Given the description of an element on the screen output the (x, y) to click on. 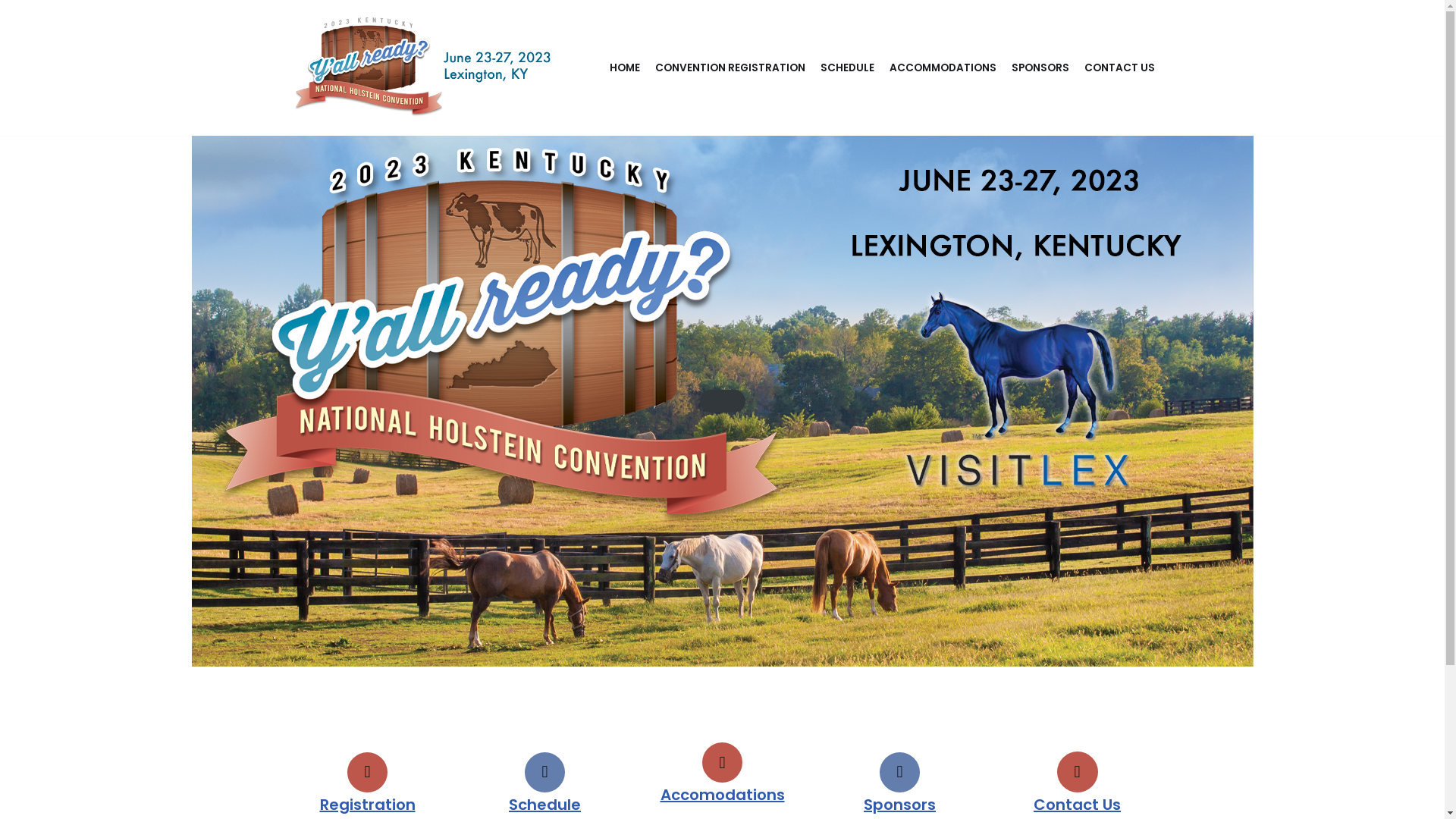
SCHEDULE Element type: text (847, 67)
Registration Element type: text (367, 804)
Sponsors Element type: text (899, 804)
Skip to content Element type: text (11, 31)
SPONSORS Element type: text (1040, 67)
CONTACT US Element type: text (1119, 67)
HOME Element type: text (624, 67)
Schedule Element type: text (544, 804)
Contact Us Element type: text (1076, 804)
Accomodations Element type: text (721, 794)
CONVENTION REGISTRATION Element type: text (730, 67)
2023 National Holstein Convention Element type: hover (422, 67)
ACCOMMODATIONS Element type: text (941, 67)
